Given the description of an element on the screen output the (x, y) to click on. 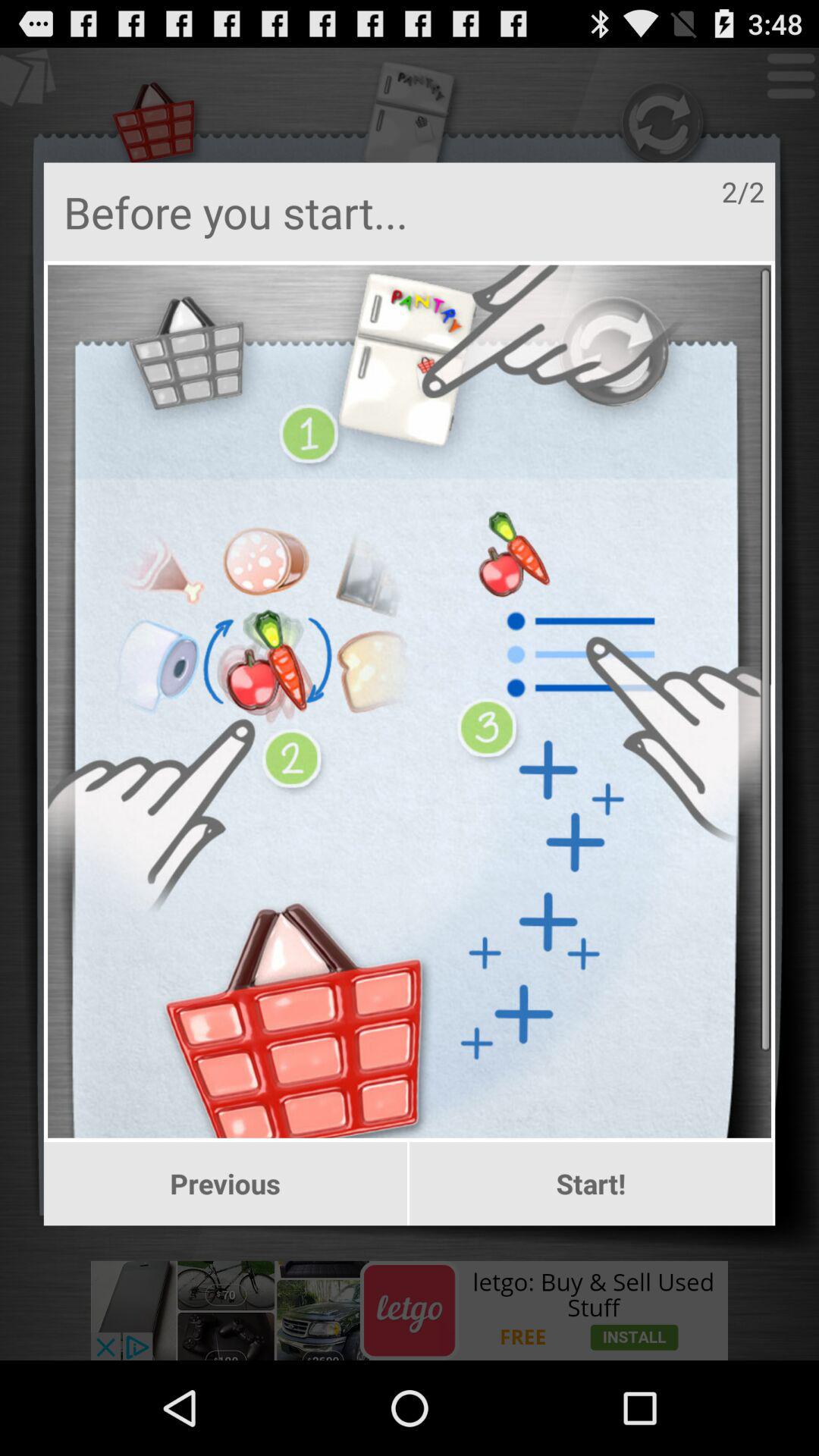
jump until previous (225, 1183)
